Given the description of an element on the screen output the (x, y) to click on. 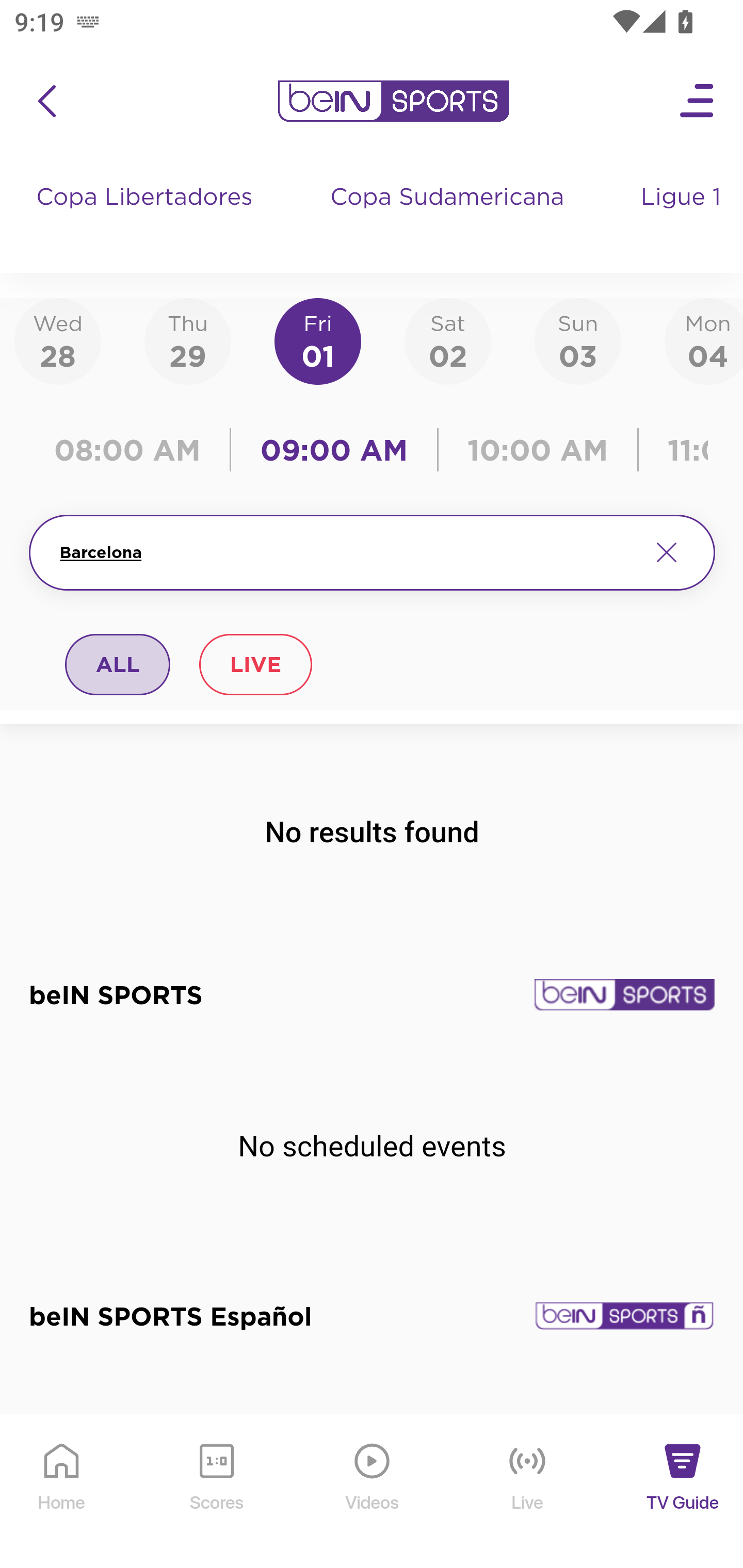
en-us?platform=mobile_android bein logo (392, 101)
icon back (46, 101)
Open Menu Icon (697, 101)
Copa Libertadores (146, 216)
Copa Sudamericana (448, 216)
Ligue 1 (682, 216)
Wed28 (58, 340)
Thu29 (187, 340)
Fri01 (318, 340)
Sat02 (447, 340)
Sun03 (578, 340)
Mon04 (703, 340)
08:00 AM (134, 449)
09:00 AM (334, 449)
10:00 AM (537, 449)
Barcelona (346, 552)
ALL (118, 663)
LIVE (255, 663)
Home Home Icon Home (61, 1491)
Scores Scores Icon Scores (216, 1491)
Videos Videos Icon Videos (372, 1491)
TV Guide TV Guide Icon TV Guide (682, 1491)
